Given the description of an element on the screen output the (x, y) to click on. 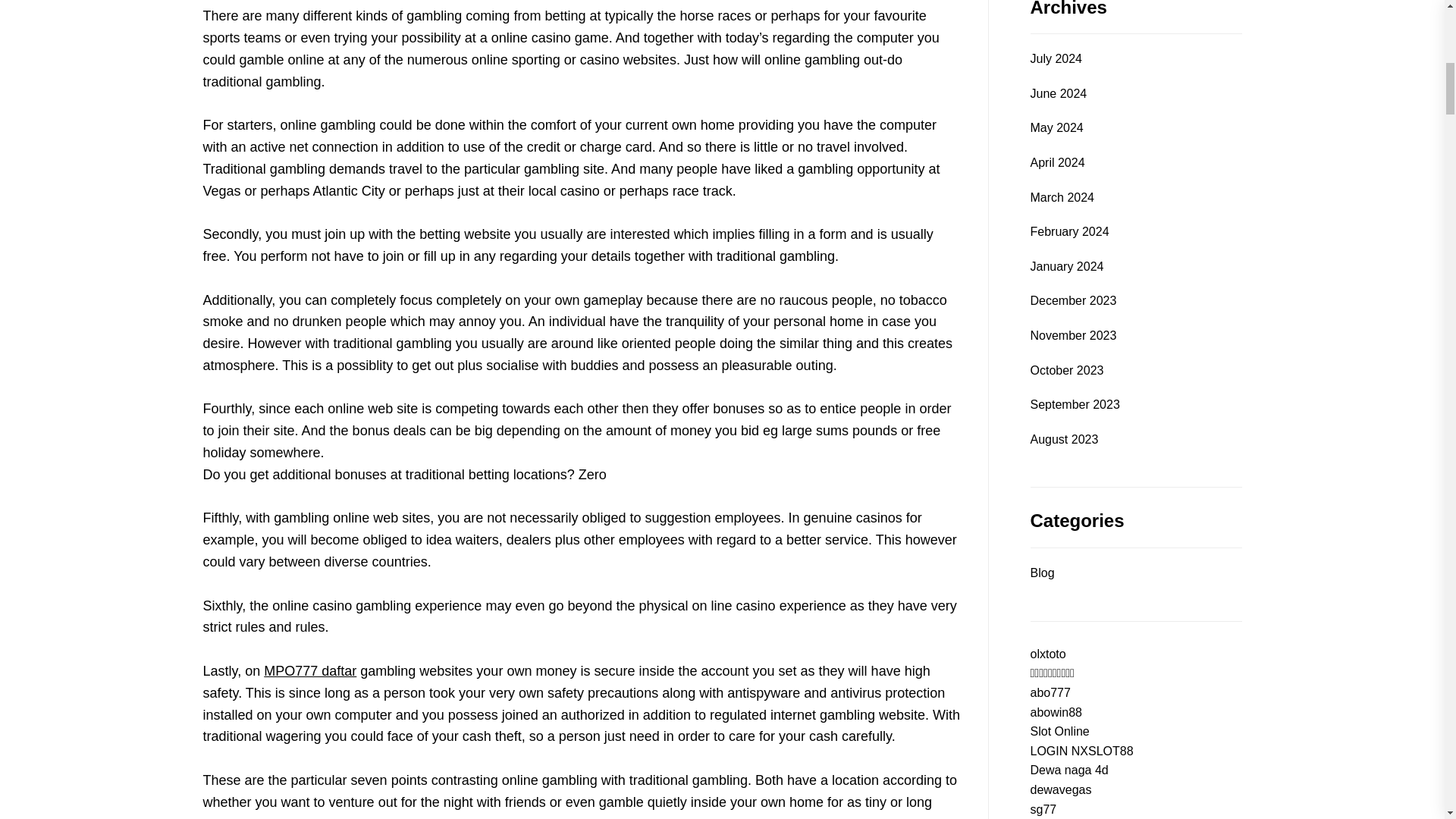
September 2023 (1074, 404)
February 2024 (1068, 231)
November 2023 (1072, 335)
July 2024 (1055, 58)
December 2023 (1072, 301)
March 2024 (1061, 198)
October 2023 (1066, 370)
Blog (1041, 573)
olxtoto (1047, 653)
June 2024 (1057, 94)
April 2024 (1056, 162)
May 2024 (1056, 127)
MPO777 daftar (309, 670)
January 2024 (1066, 266)
August 2023 (1063, 439)
